Given the description of an element on the screen output the (x, y) to click on. 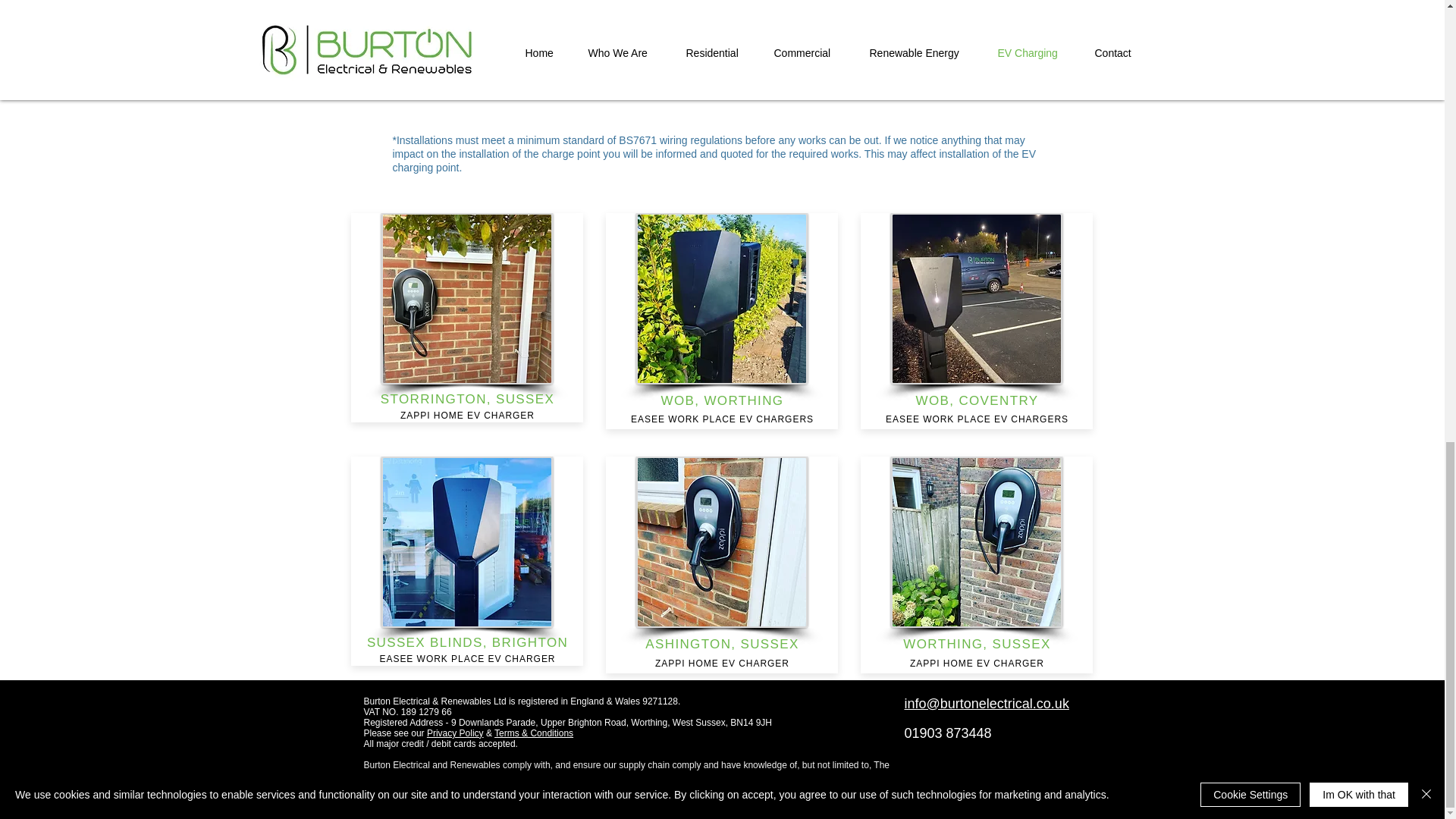
here (492, 15)
Privacy Policy (454, 733)
01903 873448 (947, 733)
